Given the description of an element on the screen output the (x, y) to click on. 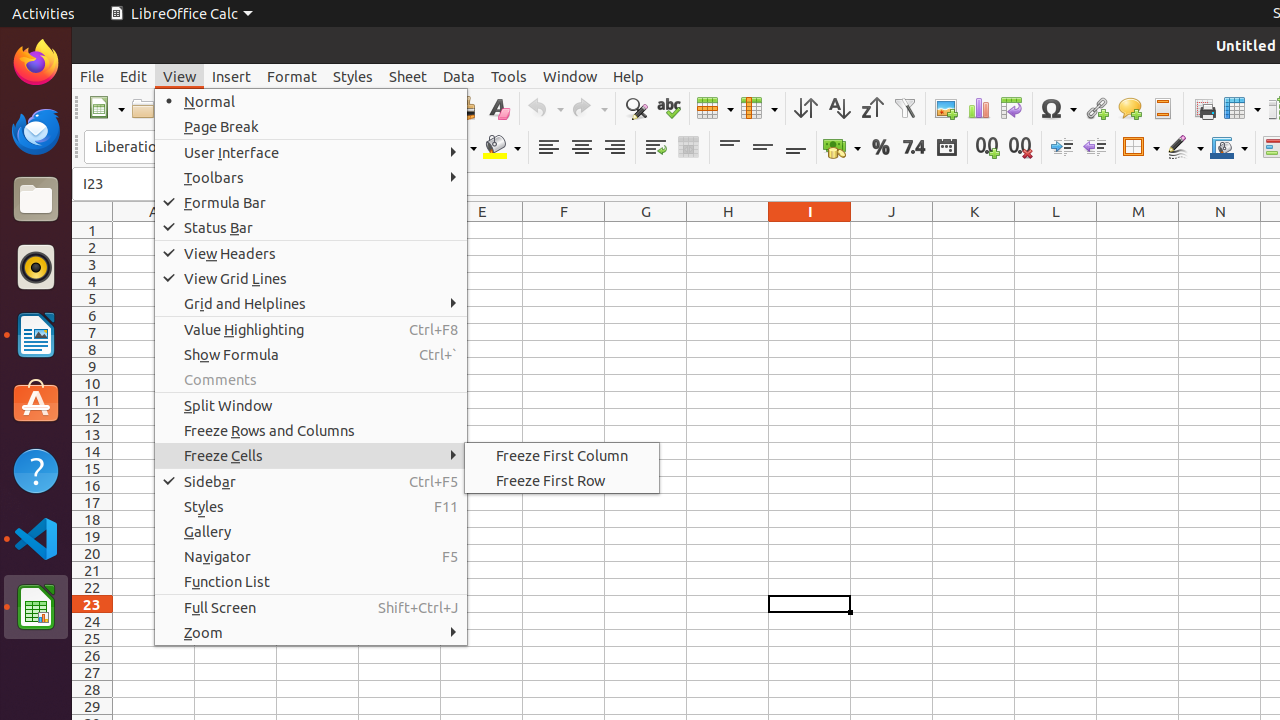
Border Style Element type: push-button (1185, 147)
Number Element type: push-button (913, 147)
A1 Element type: table-cell (154, 230)
